Given the description of an element on the screen output the (x, y) to click on. 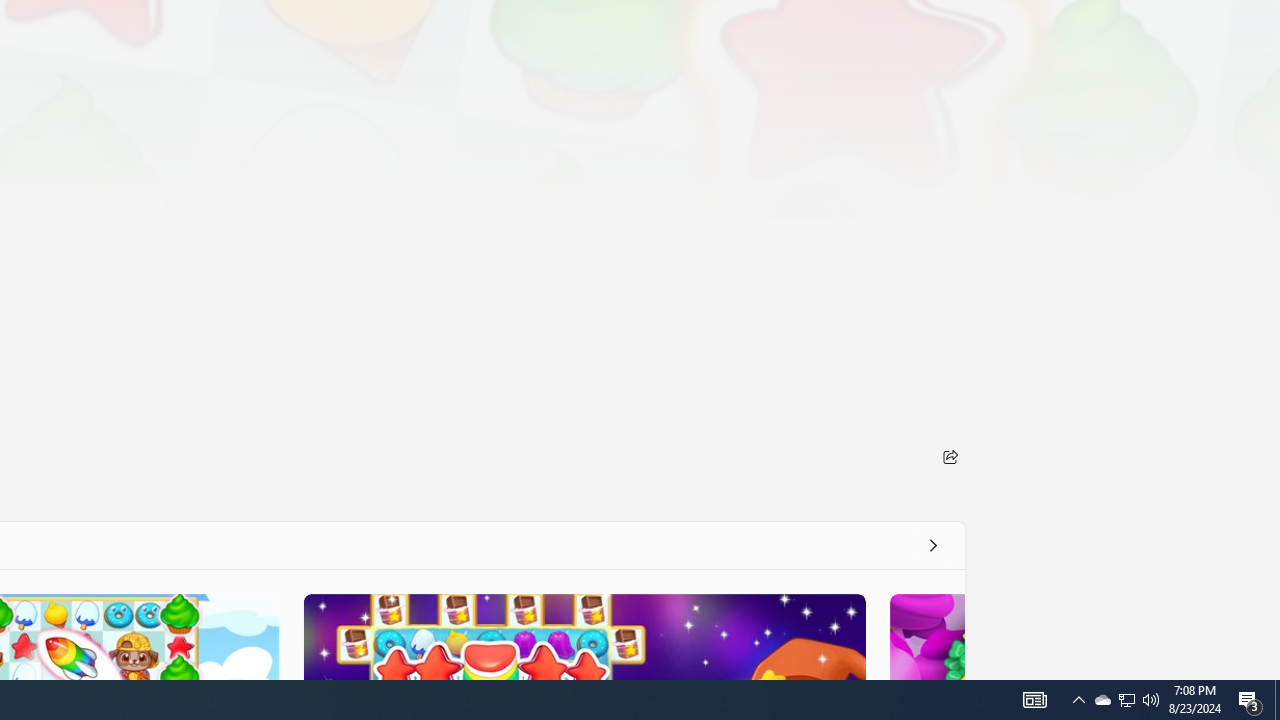
See all (932, 544)
Screenshot 3 (584, 636)
Share (950, 456)
Screenshot 4 (926, 636)
Vertical Small Increase (1272, 672)
